Given the description of an element on the screen output the (x, y) to click on. 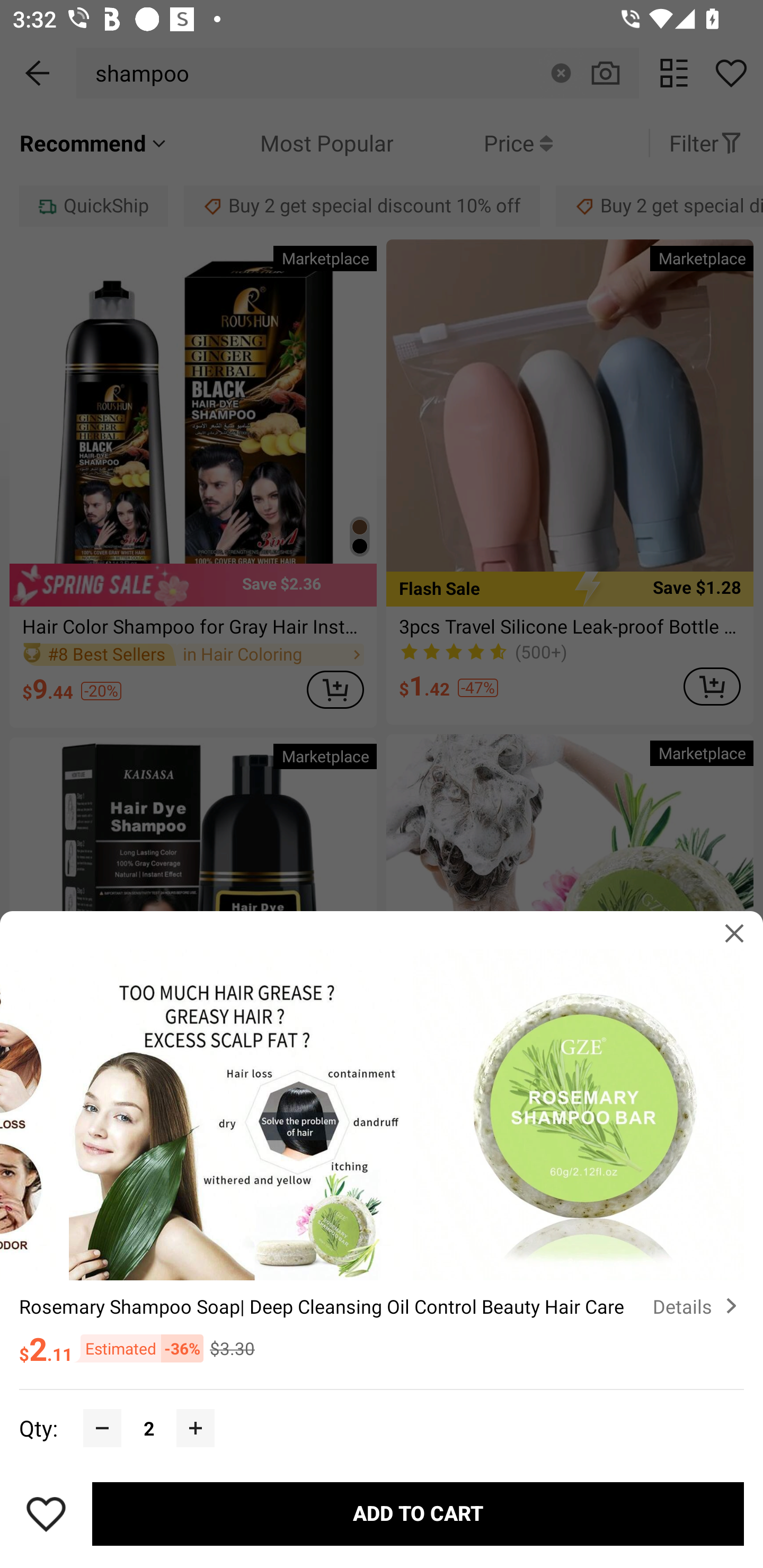
Details (698, 1305)
Estimated -36% (137, 1348)
ADD TO CART (417, 1513)
Save (46, 1513)
